Given the description of an element on the screen output the (x, y) to click on. 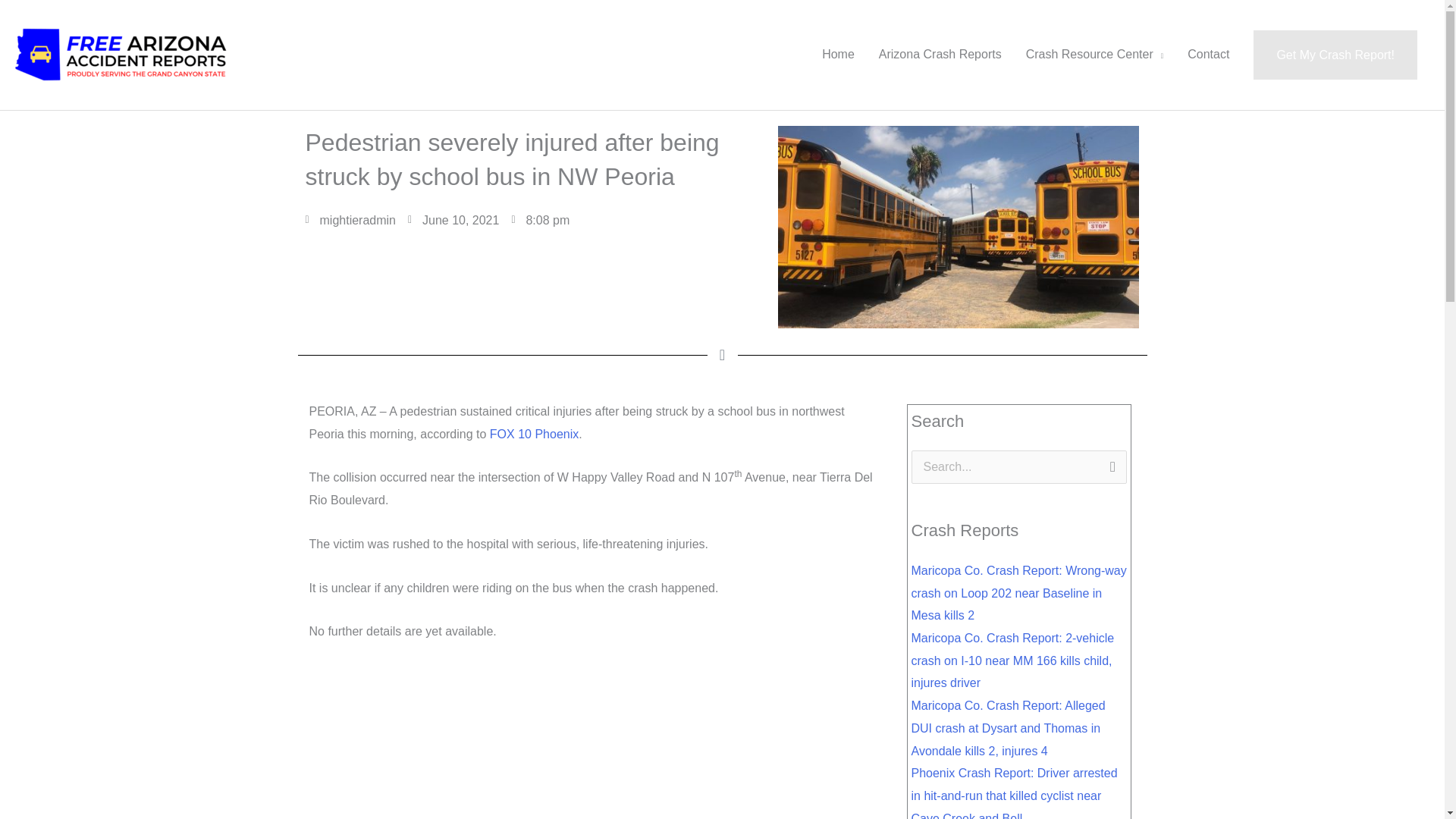
bus, school, school bus-2690793 (957, 227)
Contact (1207, 54)
Arizona Crash Reports (939, 54)
Home (837, 54)
FOX 10 Phoenix (533, 433)
Get My Crash Report! (1334, 55)
